Given the description of an element on the screen output the (x, y) to click on. 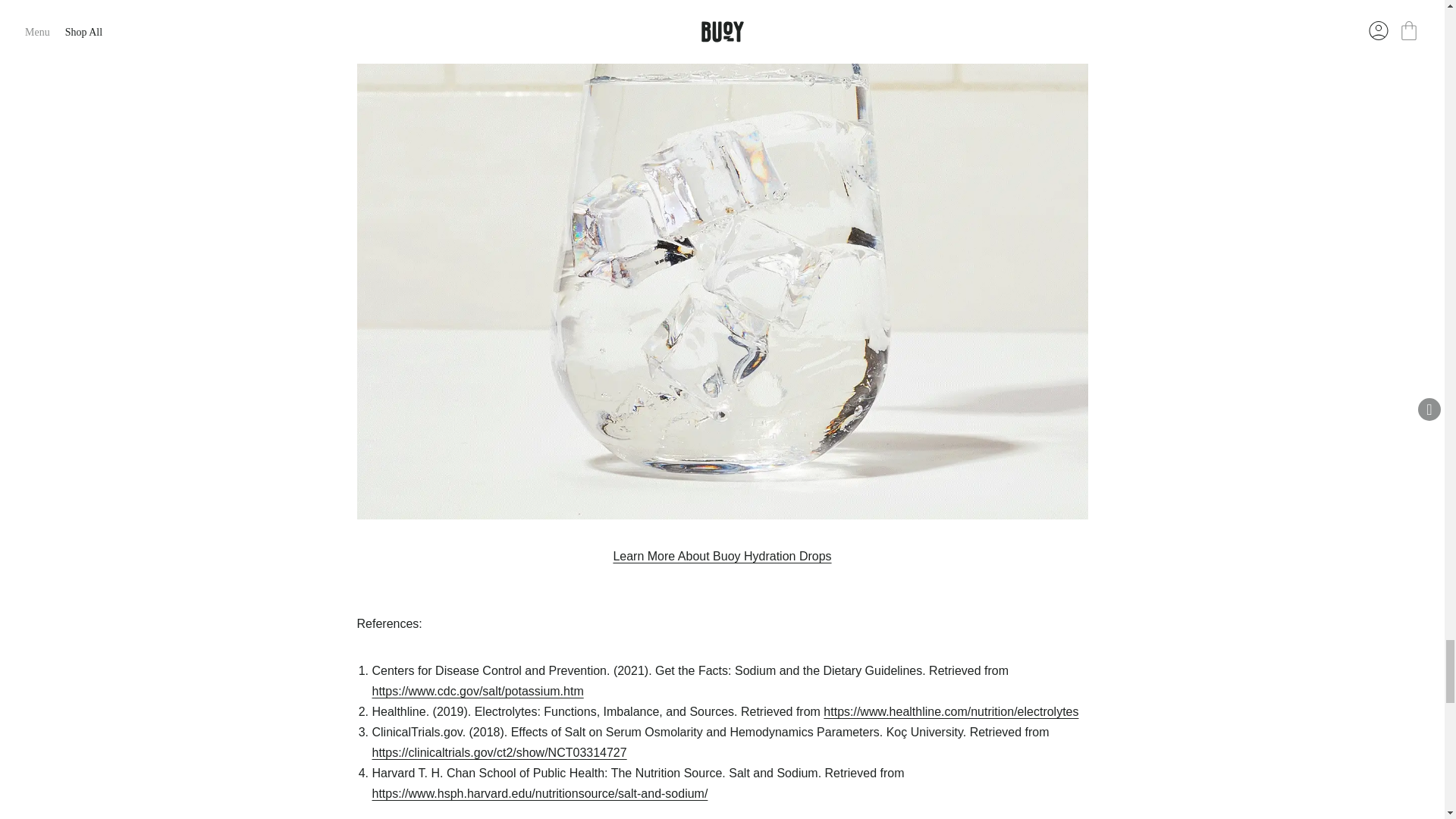
Learn more about Buoy Hydration Drops (721, 555)
